Given the description of an element on the screen output the (x, y) to click on. 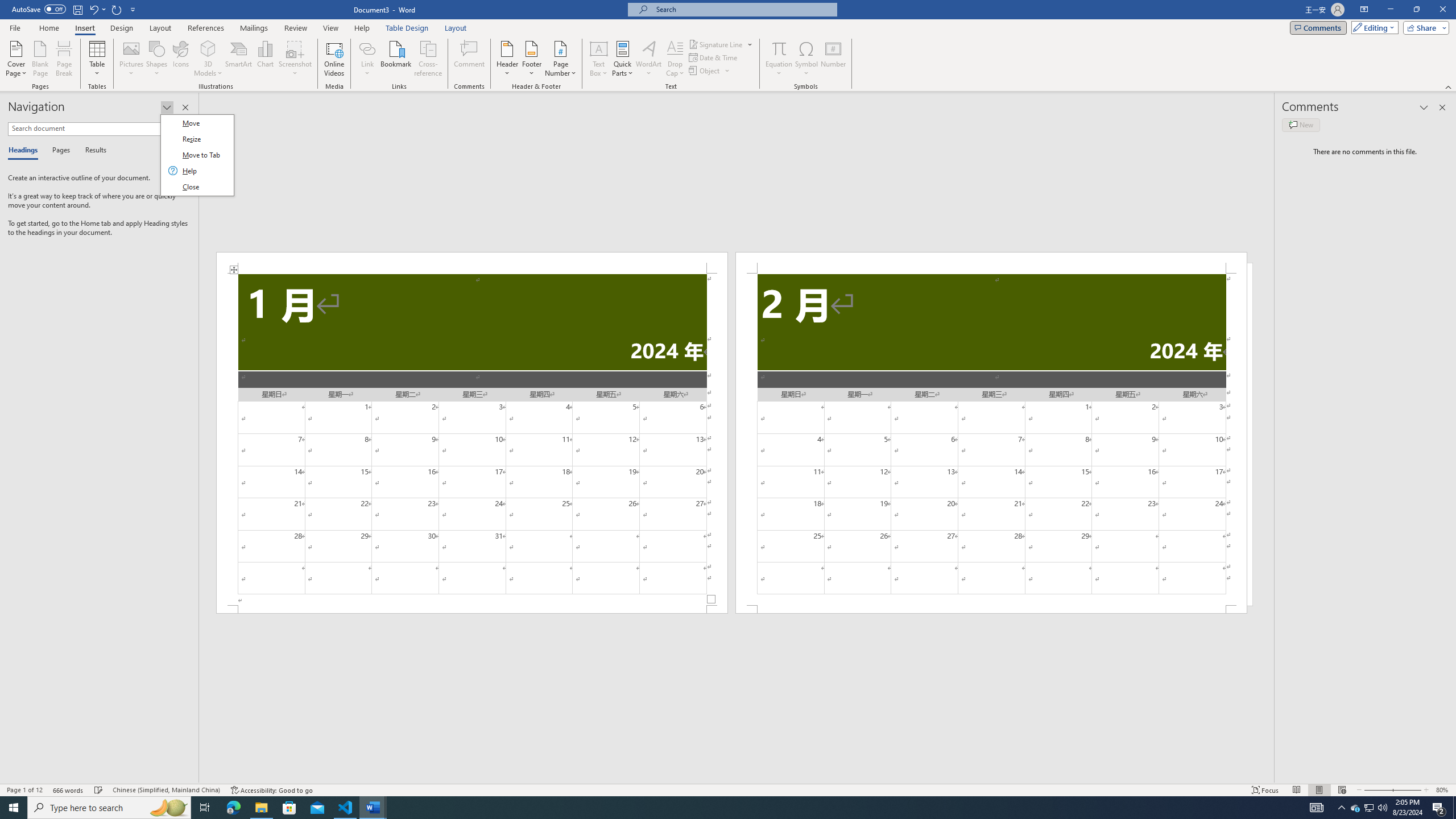
Q2790: 100% (1382, 807)
Footer (531, 58)
New comment (1300, 124)
File Explorer - 1 running window (261, 807)
Accessibility Checker Accessibility: Good to go (1355, 807)
Notification Chevron (271, 790)
Undo Increase Indent (1341, 807)
